Given the description of an element on the screen output the (x, y) to click on. 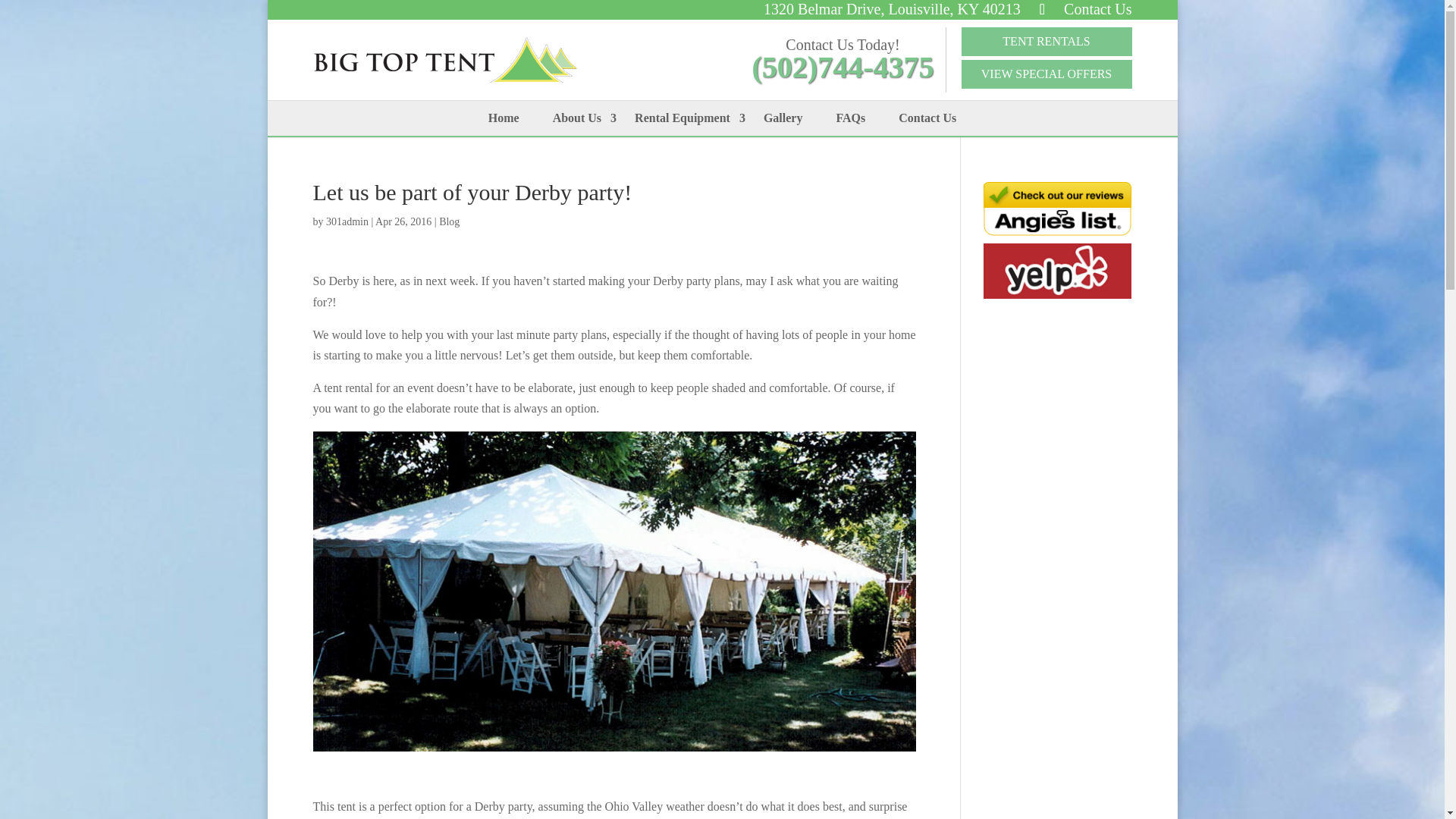
VIEW SPECIAL OFFERS (1046, 73)
Contact Us (927, 117)
1320 Belmar Drive, Louisville, KY 40213 (891, 8)
Blog (449, 221)
About Us (576, 117)
FAQs (850, 117)
301admin (347, 221)
Rental Equipment (682, 117)
Gallery (783, 117)
Home (503, 117)
